Given the description of an element on the screen output the (x, y) to click on. 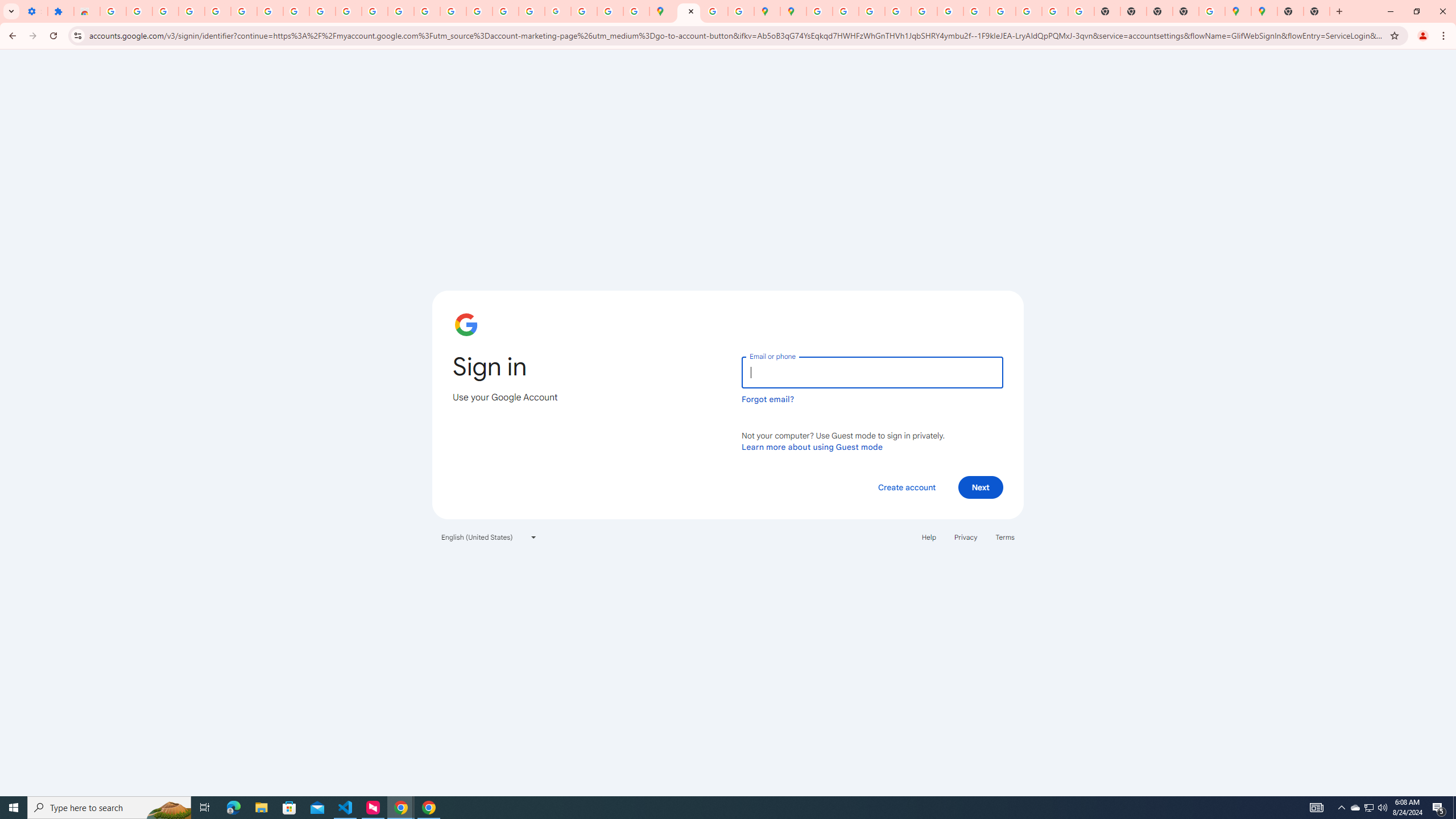
Learn more about using Guest mode (812, 446)
Sign in - Google Accounts (689, 11)
Next (980, 486)
Google Maps (1264, 11)
Privacy Help Center - Policies Help (897, 11)
Use Google Maps in Space - Google Maps Help (1211, 11)
YouTube (976, 11)
